Given the description of an element on the screen output the (x, y) to click on. 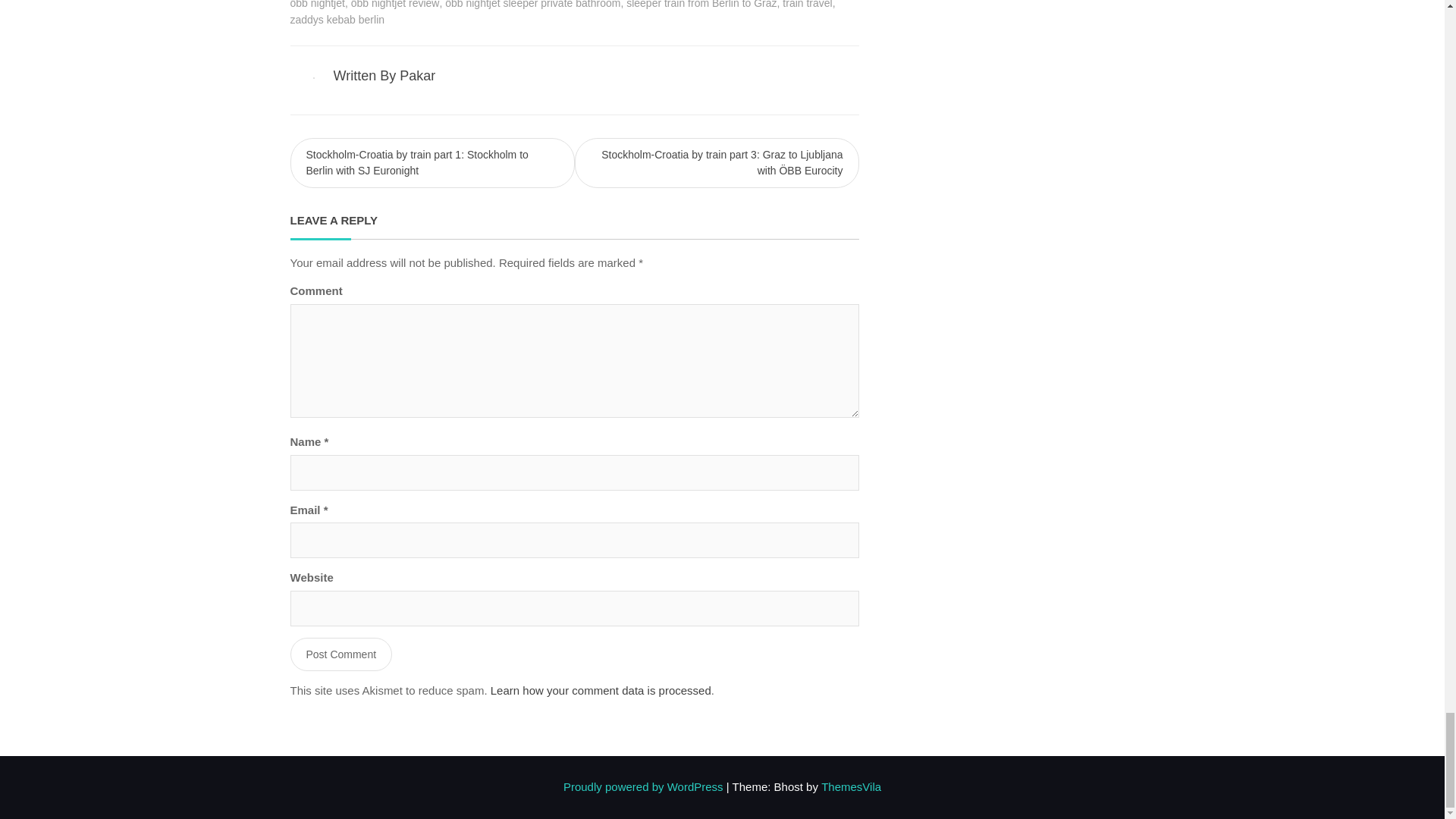
sleeper train from Berlin to Graz (701, 5)
train travel (807, 5)
Post Comment (340, 654)
zaddys kebab berlin (336, 19)
Post Comment (340, 654)
Learn how your comment data is processed (600, 691)
